Given the description of an element on the screen output the (x, y) to click on. 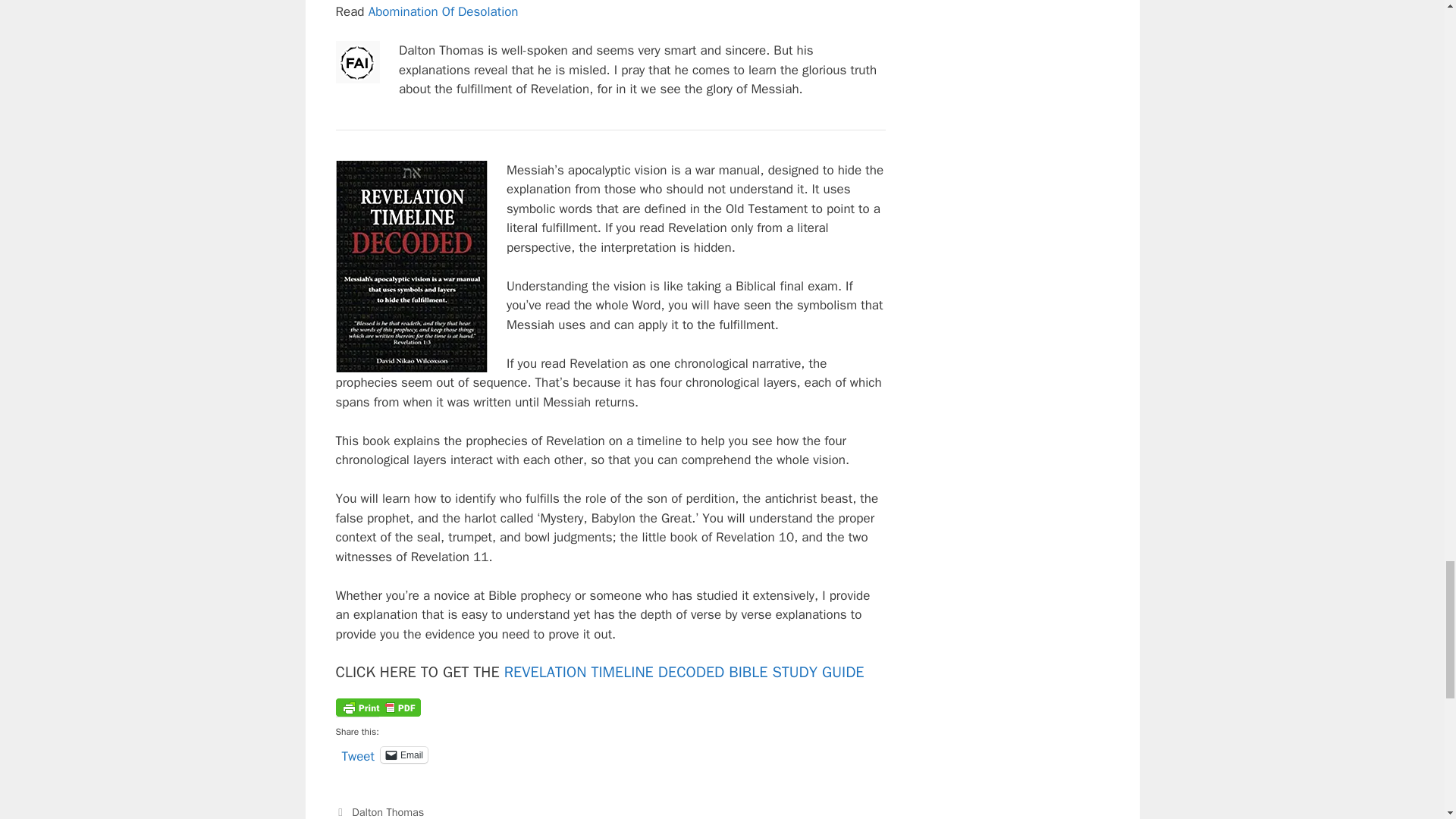
Email (404, 754)
REVELATION TIMELINE DECODED BIBLE STUDY GUIDE (683, 671)
Click to email a link to a friend (404, 754)
Abomination Of Desolation (443, 11)
Tweet (357, 753)
Dalton Thomas (387, 812)
